Given the description of an element on the screen output the (x, y) to click on. 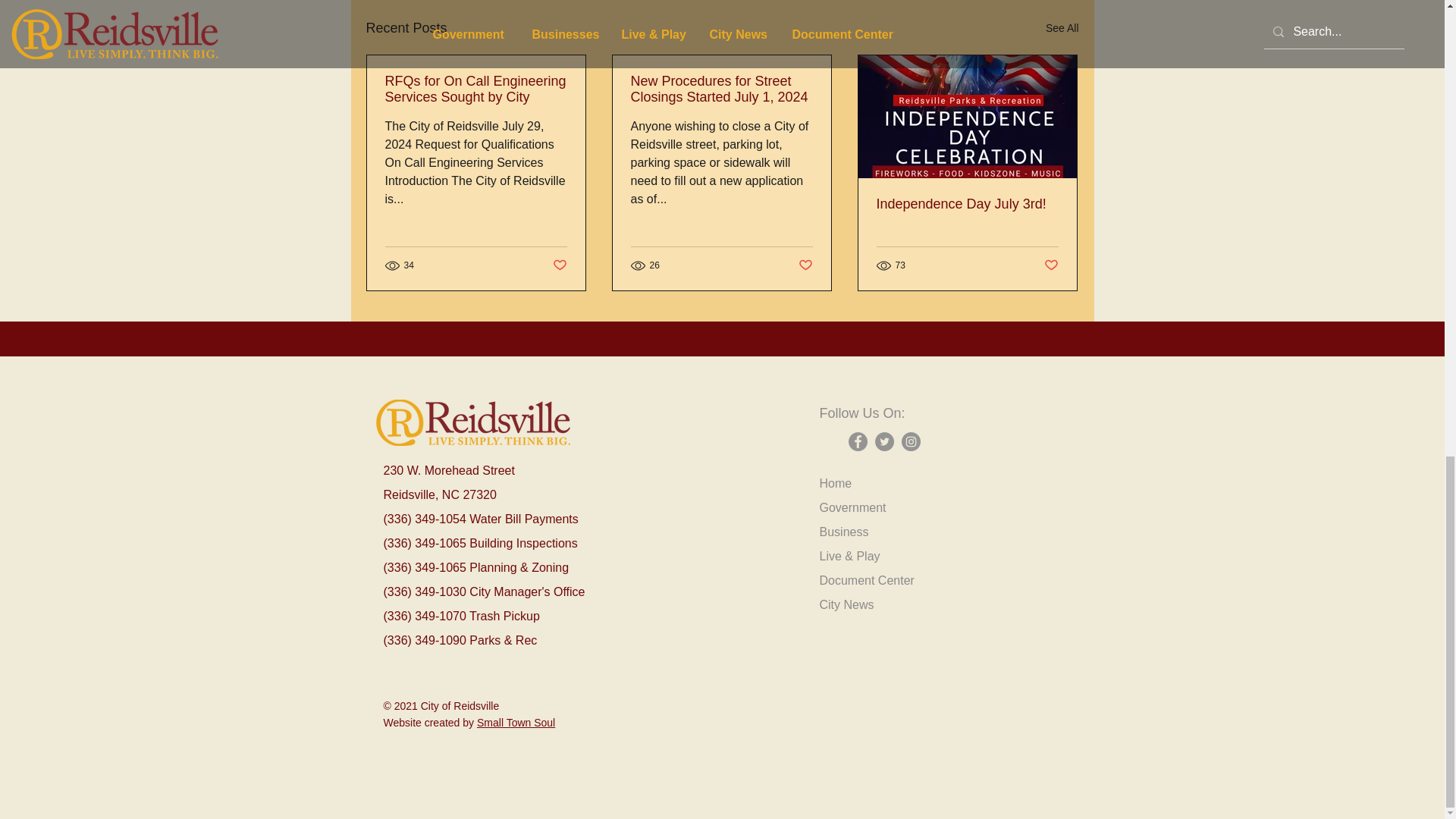
City News (845, 604)
Business (842, 531)
Small Town Soul (515, 722)
Post not marked as liked (804, 264)
Post not marked as liked (558, 264)
New Procedures for Street Closings Started July 1, 2024 (721, 89)
Government (851, 507)
See All (1061, 28)
Document Center (866, 580)
RFQs for On Call Engineering Services Sought by City (476, 89)
